Given the description of an element on the screen output the (x, y) to click on. 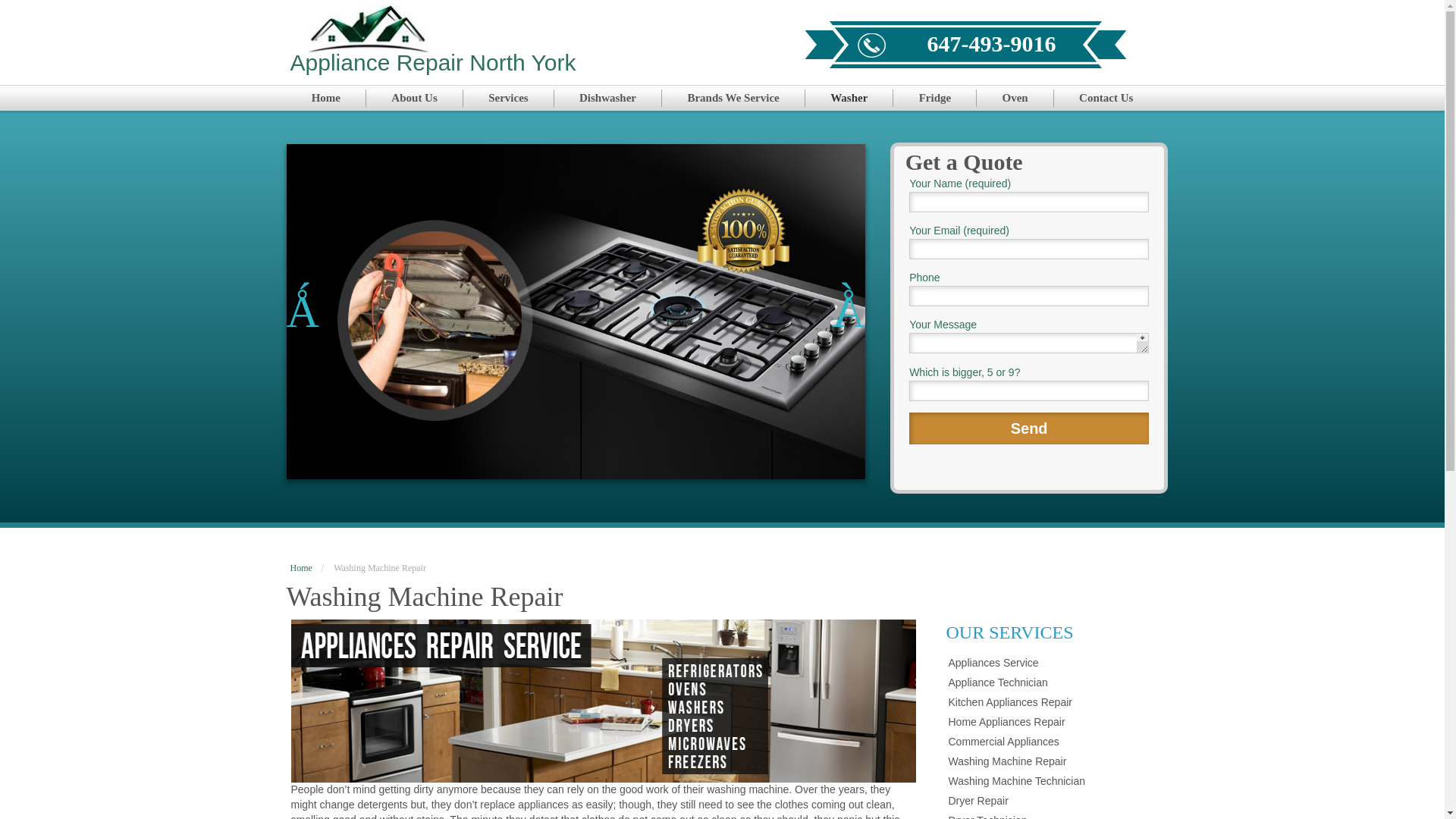
Send (1028, 428)
647-493-9016 (990, 43)
